Given the description of an element on the screen output the (x, y) to click on. 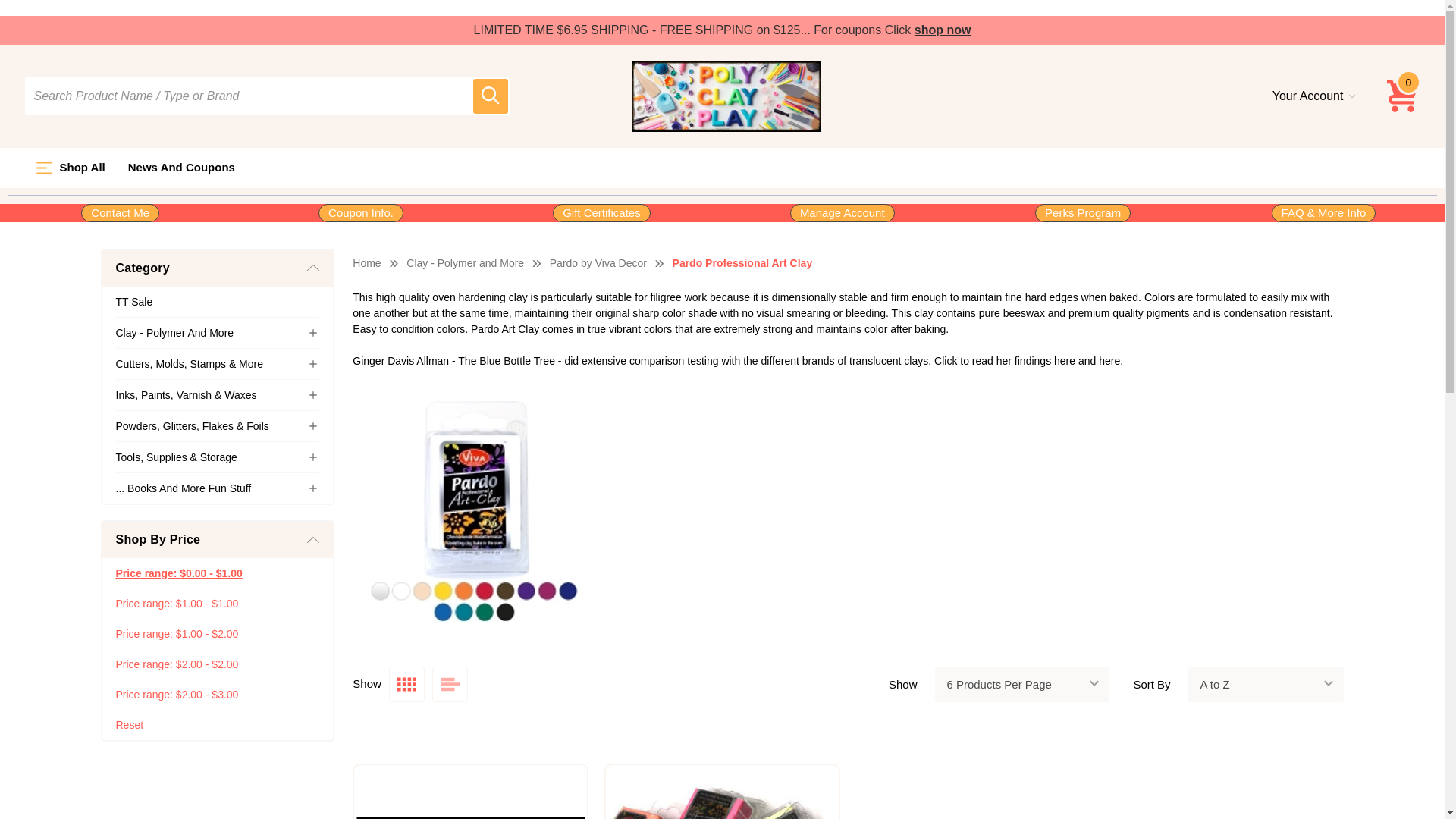
Shop All (70, 168)
Poly Clay Play (726, 95)
News And Coupons (181, 168)
Your Account (1313, 95)
shop now (942, 29)
0 (1402, 95)
